Given the description of an element on the screen output the (x, y) to click on. 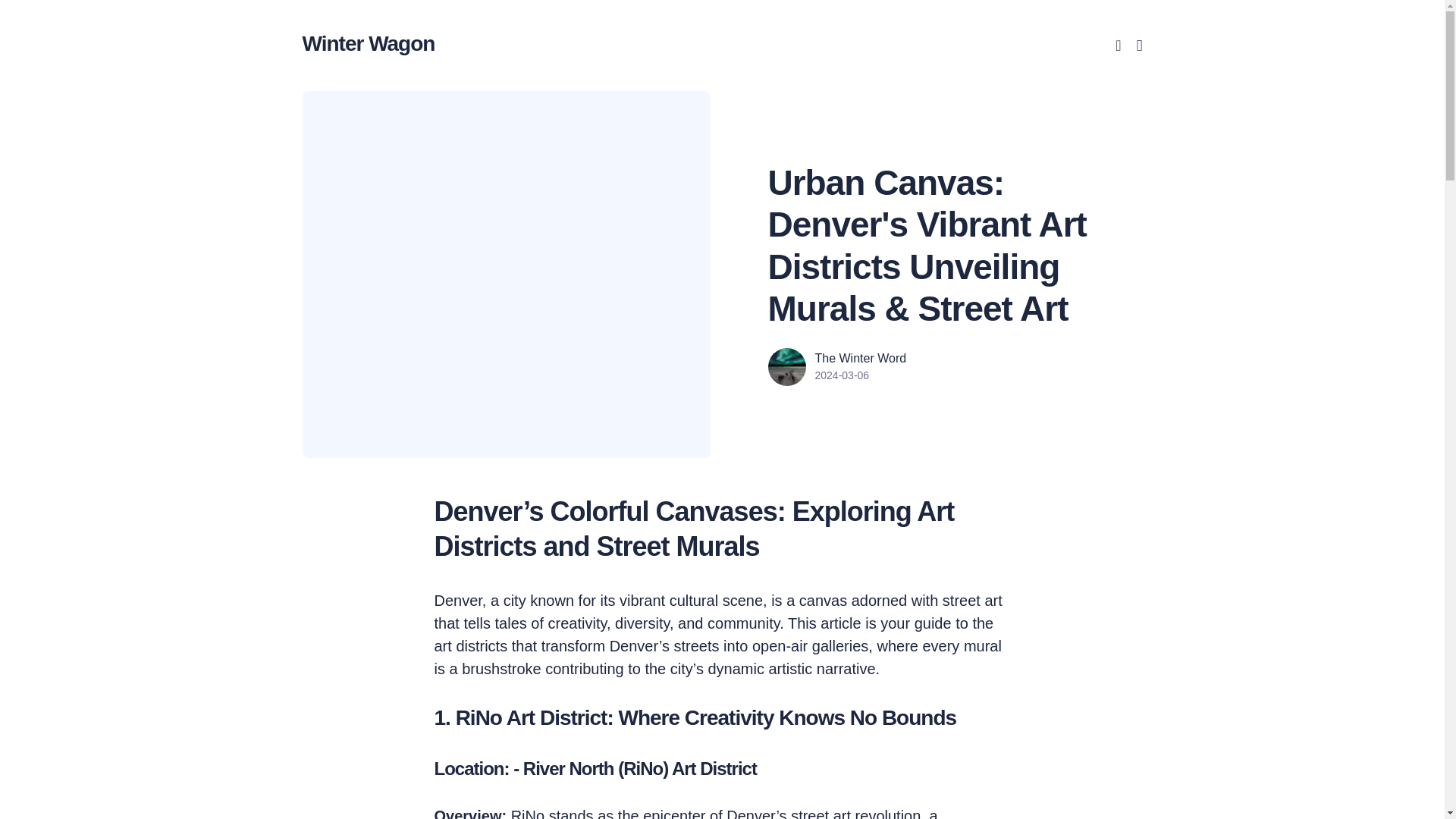
epicenter (673, 813)
The Winter Word (859, 358)
Winter Wagon (367, 43)
contributing (583, 669)
